Given the description of an element on the screen output the (x, y) to click on. 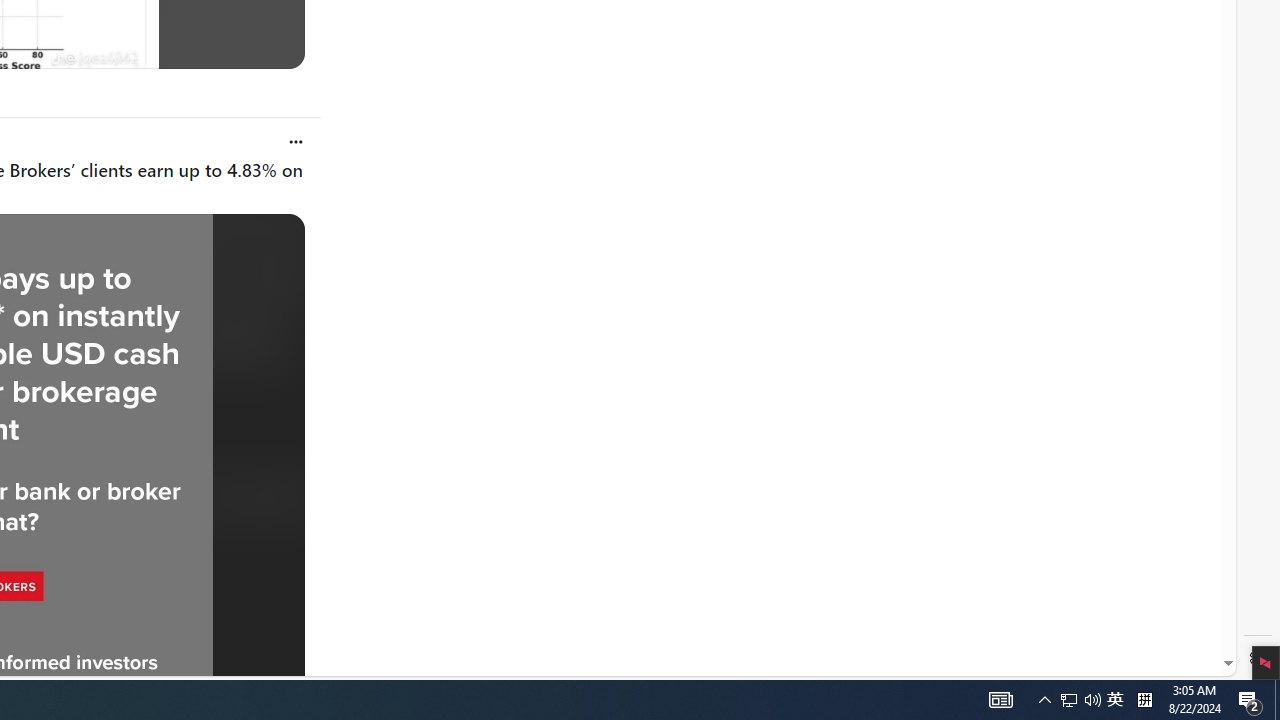
Open user actions (295, 141)
